Given the description of an element on the screen output the (x, y) to click on. 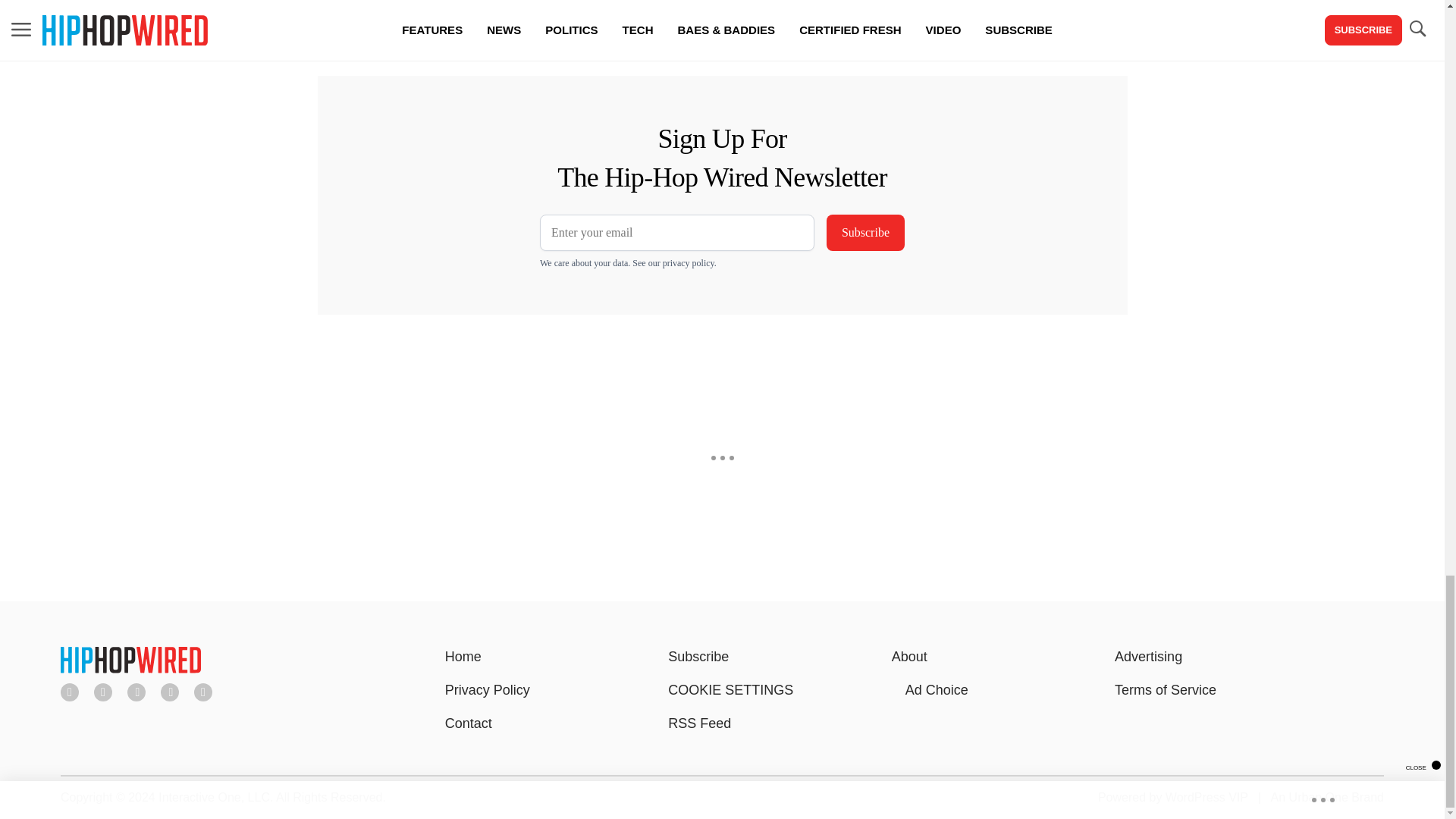
Subscribe (865, 232)
privacy policy (688, 262)
